Given the description of an element on the screen output the (x, y) to click on. 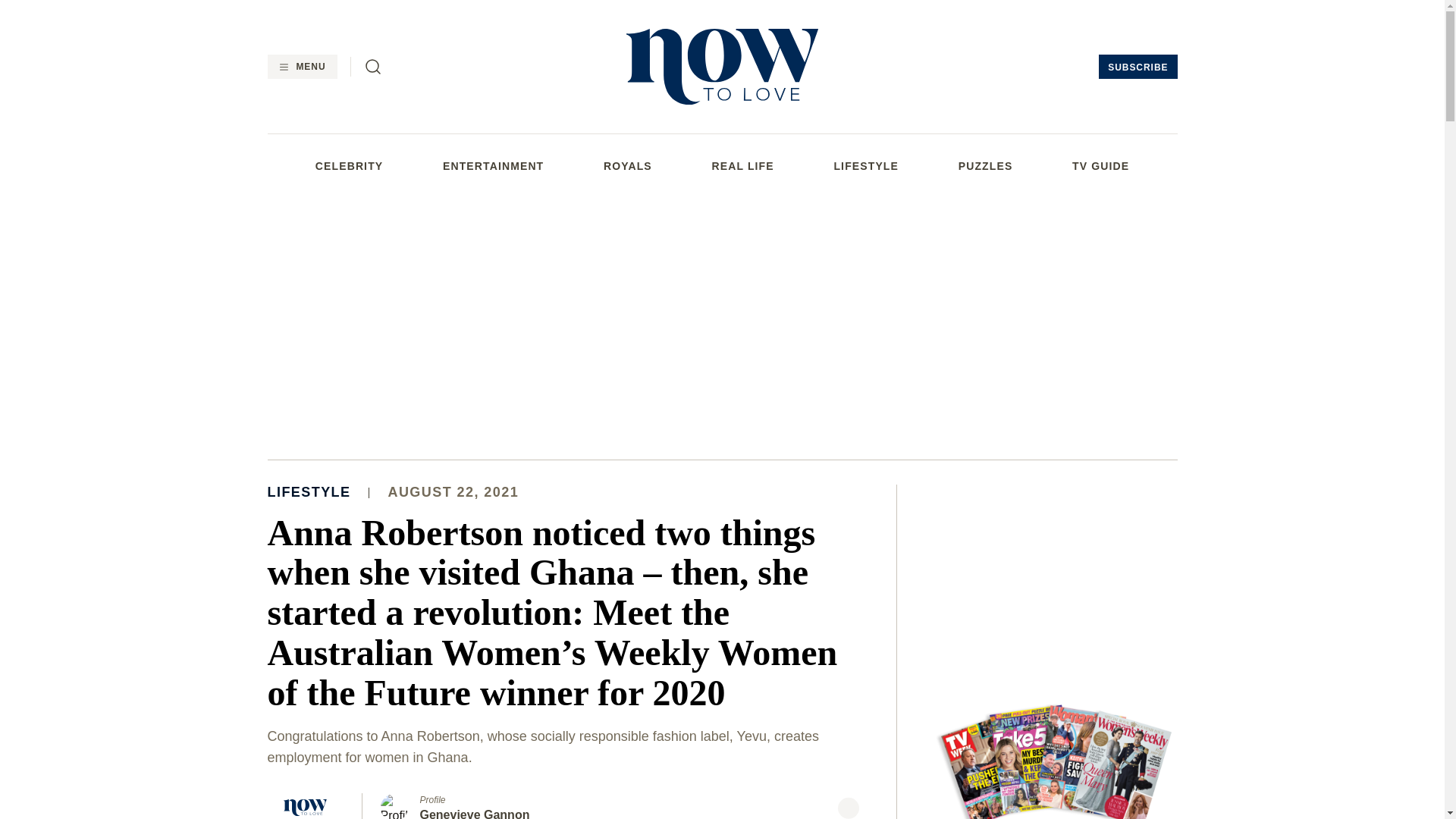
CELEBRITY (348, 165)
REAL LIFE (742, 165)
ROYALS (628, 165)
SUBSCRIBE (1137, 66)
LIFESTYLE (865, 165)
ENTERTAINMENT (492, 165)
MENU (301, 66)
PUZZLES (985, 165)
TV GUIDE (1100, 165)
